Given the description of an element on the screen output the (x, y) to click on. 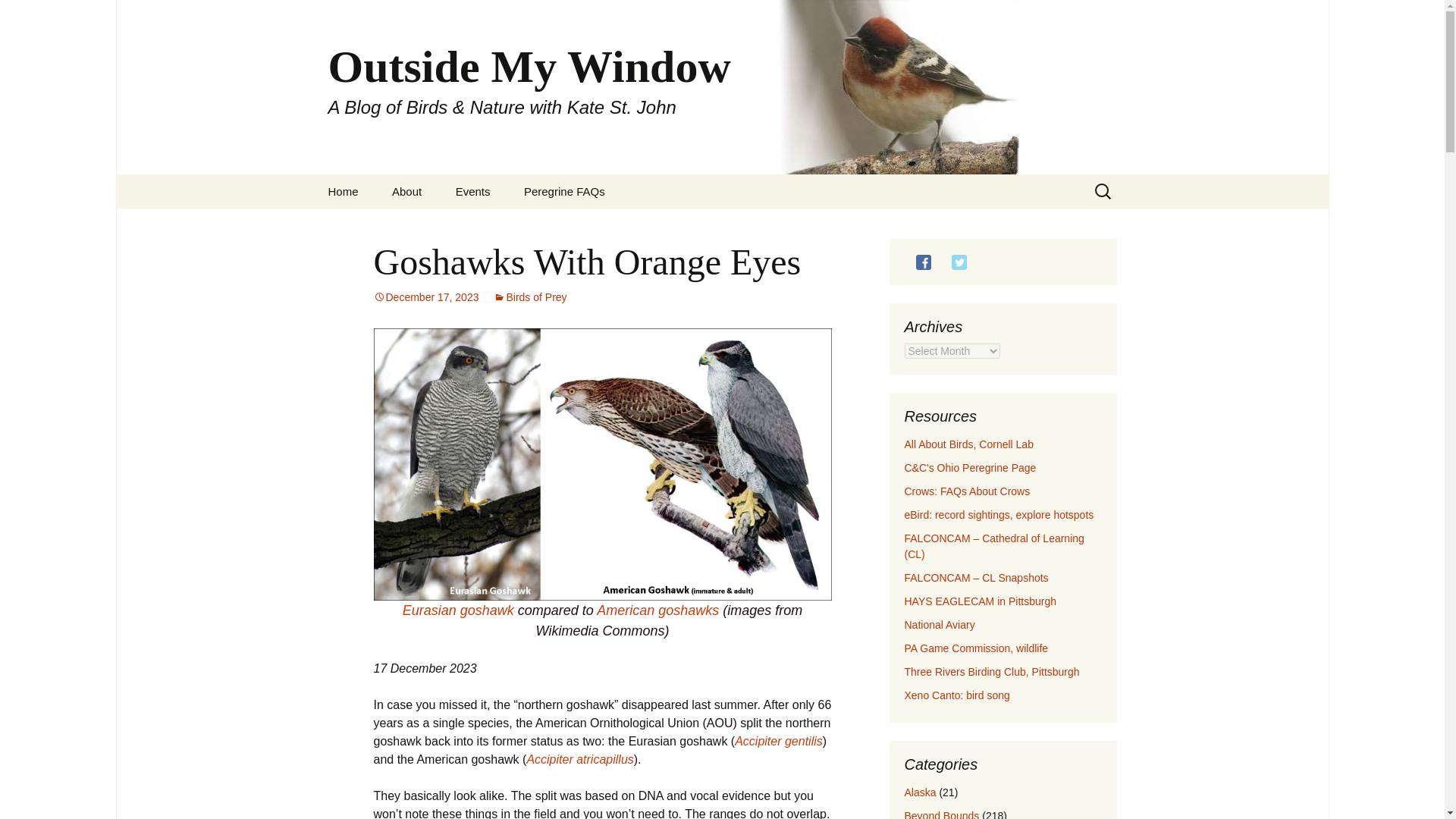
PA Game Commission, wildlife (976, 648)
All About Birds online guide (968, 444)
Listserv of bird sightings in PA (998, 514)
Accipiter gentilis (778, 740)
Three Rivers Birding Club, Pittsburgh (991, 671)
Three Rivers Birding Club, Pittsburgh (991, 671)
HAYS EAGLECAM in Pittsburgh (979, 601)
All About Birds, Cornell Lab (968, 444)
Home (342, 191)
PGC wildlife link (976, 648)
